Given the description of an element on the screen output the (x, y) to click on. 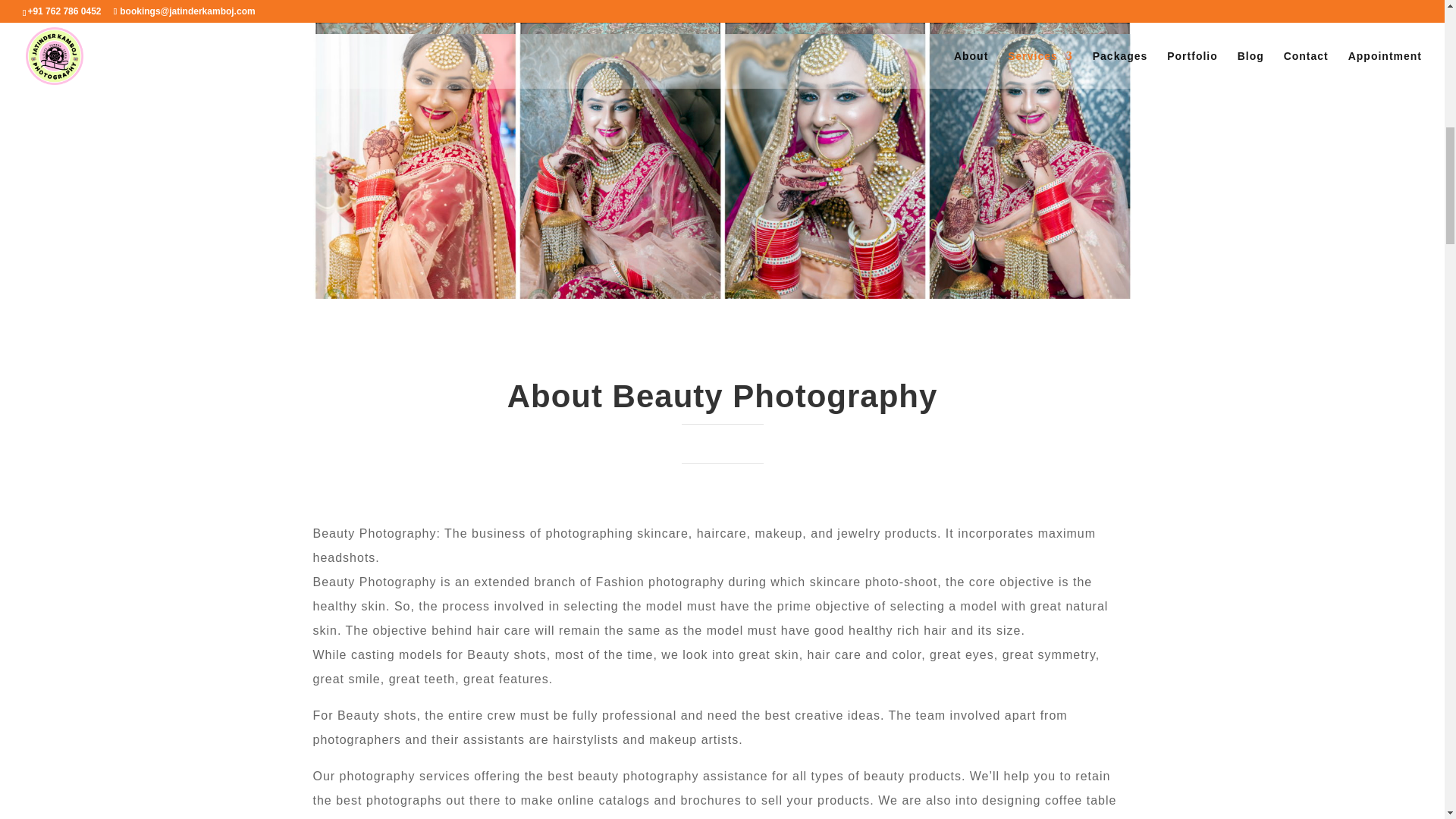
IRIS-8798 (414, 30)
IRIS-8722 (1028, 30)
IRIS-7929 (824, 295)
IRIS-7883 (1028, 295)
IRIS-8035 (414, 295)
IRIS-8737 (824, 30)
IRIS-8745 (619, 30)
IRIS-8000 (619, 295)
